Given the description of an element on the screen output the (x, y) to click on. 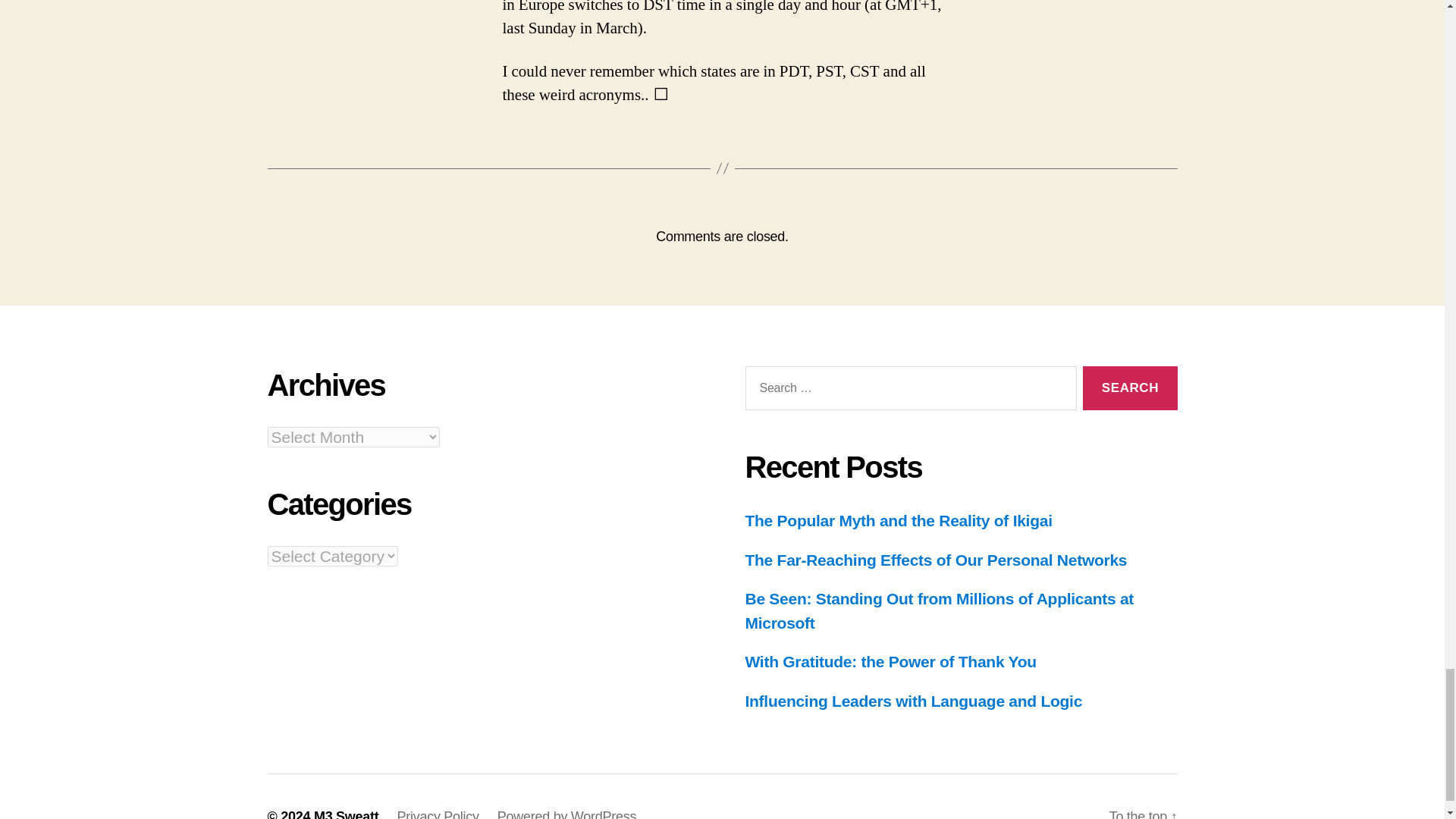
Search (1129, 388)
Search (1129, 388)
